Given the description of an element on the screen output the (x, y) to click on. 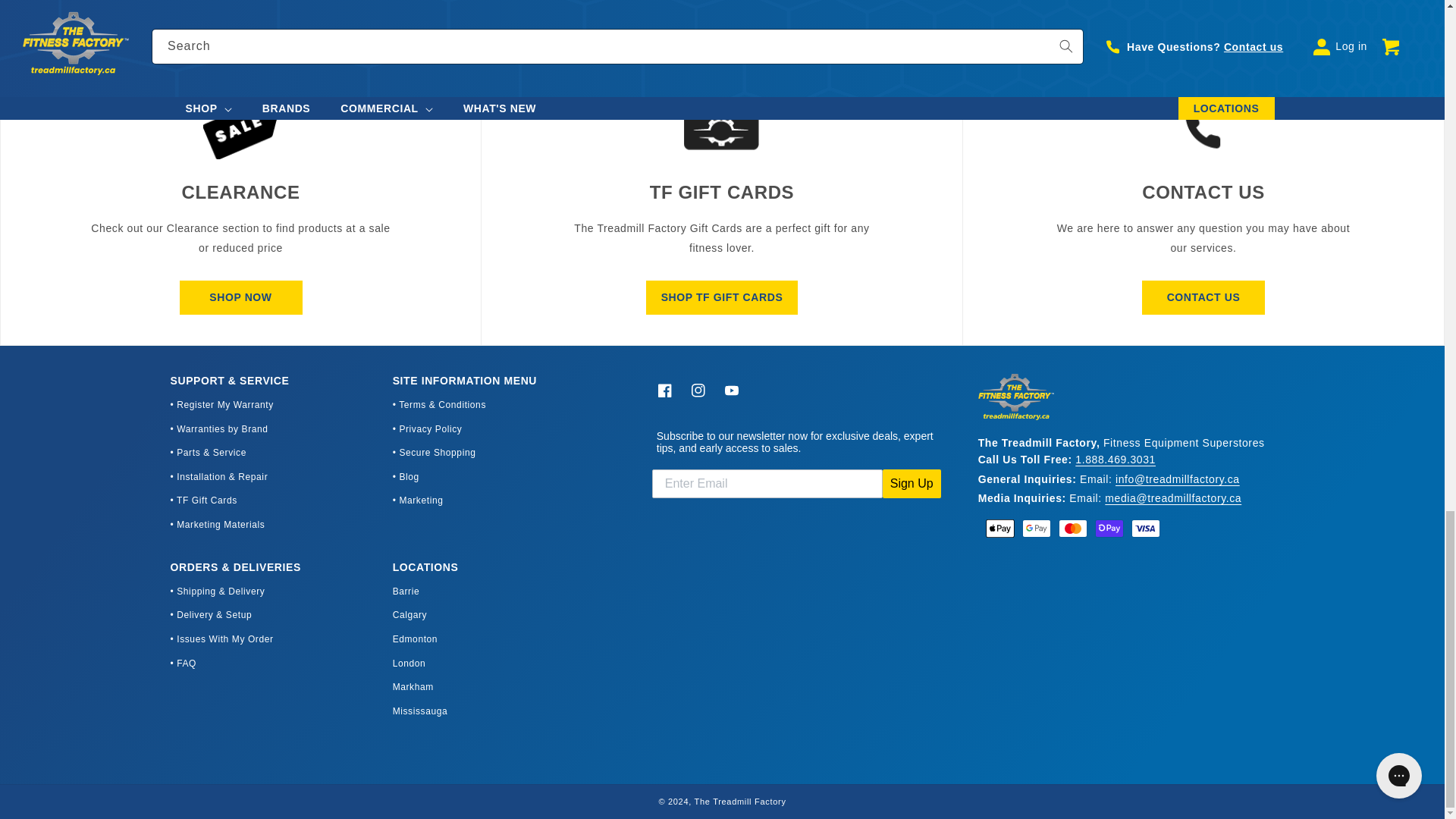
tel:18884693031 (1115, 459)
